Given the description of an element on the screen output the (x, y) to click on. 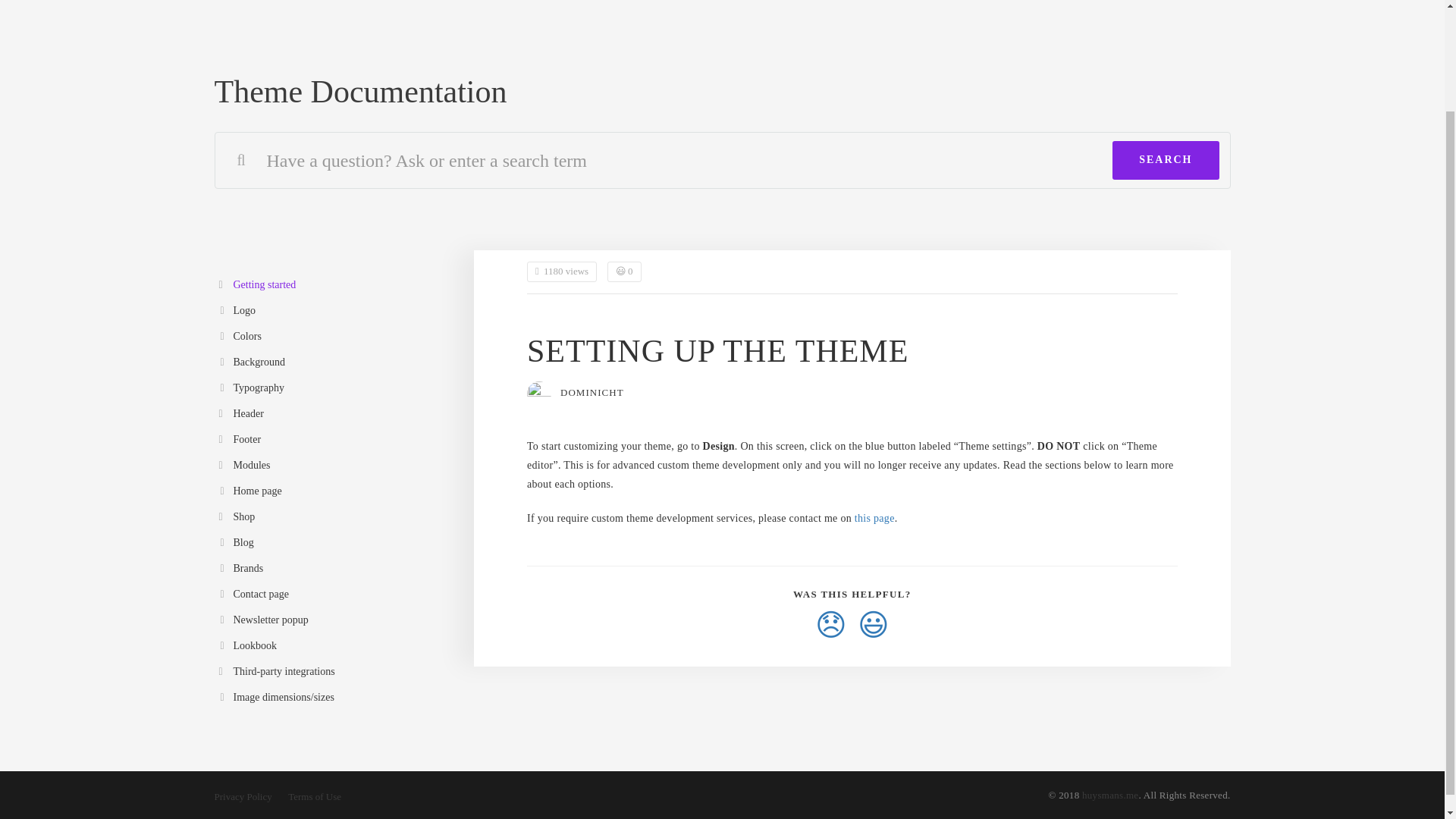
Logo (332, 311)
Getting started (332, 285)
Colors (332, 337)
Search (1165, 159)
Search (1165, 159)
Footer (332, 440)
Header (332, 414)
Background (332, 362)
